Given the description of an element on the screen output the (x, y) to click on. 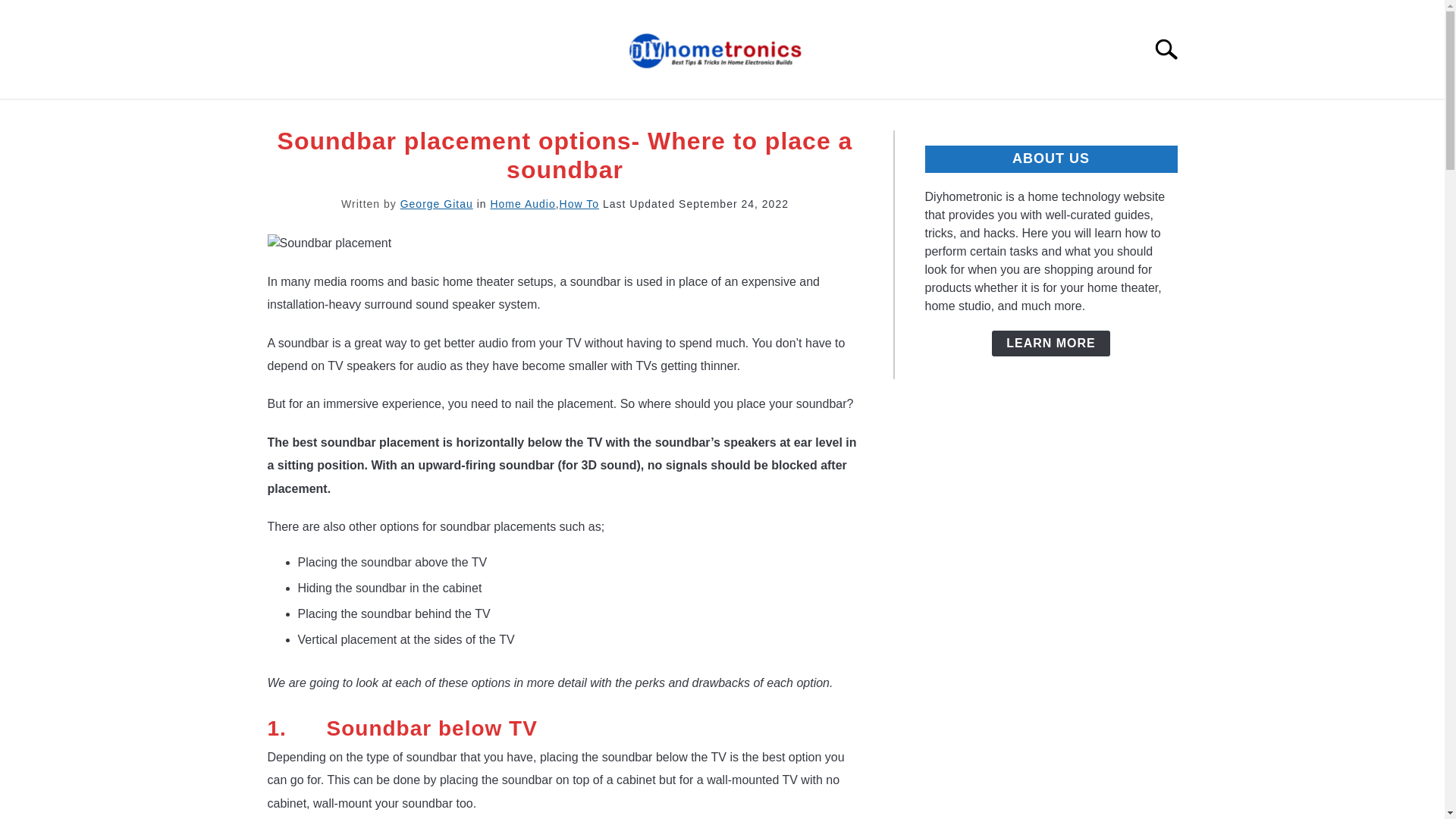
Home Audio (521, 203)
How To (578, 203)
DISPLAYS AND MONITORS (928, 117)
BUYING GUIDES (553, 117)
HOME (448, 117)
George Gitau (436, 203)
Search (1172, 49)
HOME AUDIO (682, 117)
LEARN MORE (1050, 343)
HOW TO (784, 117)
